Given the description of an element on the screen output the (x, y) to click on. 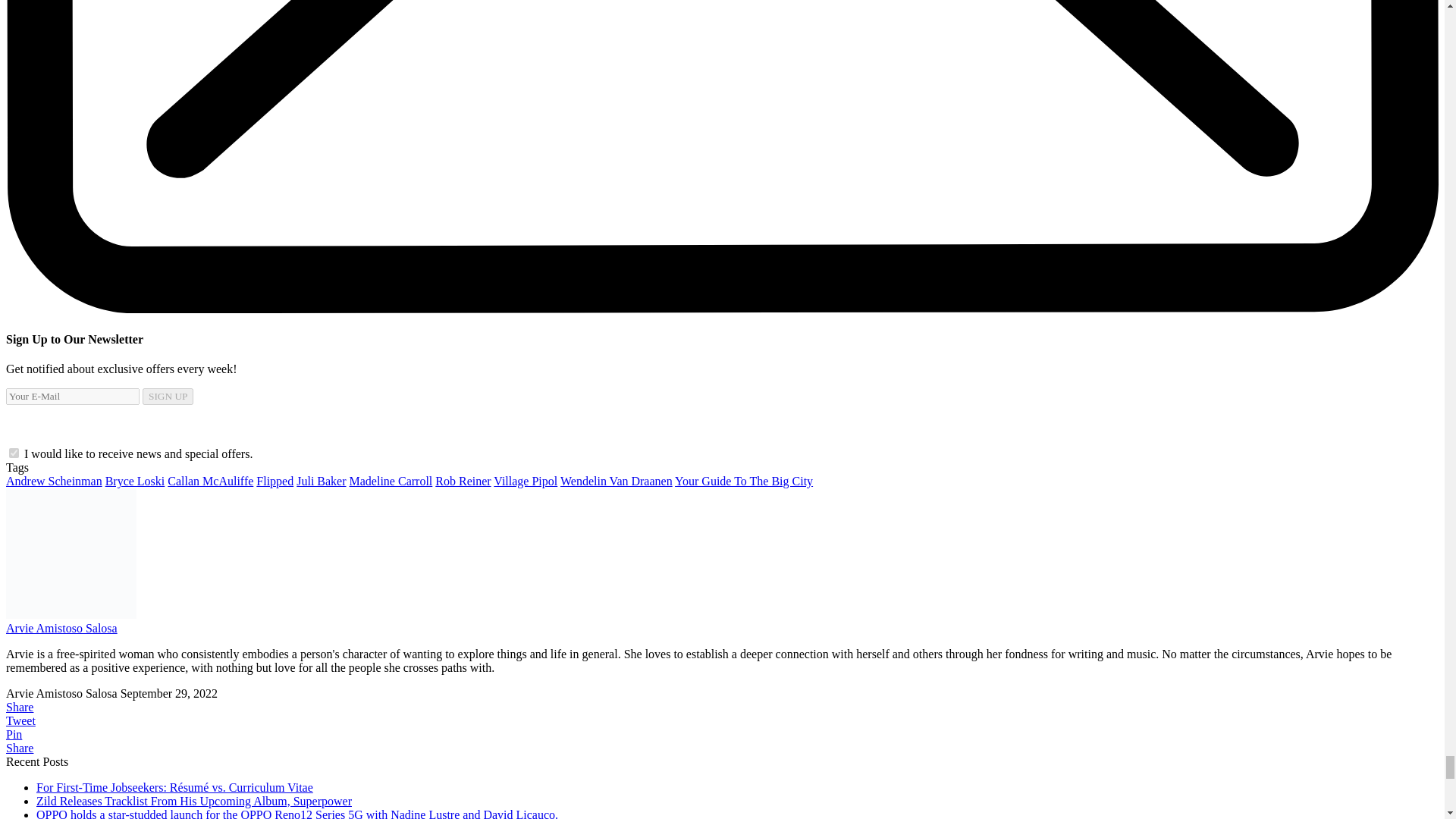
on (13, 452)
